Given the description of an element on the screen output the (x, y) to click on. 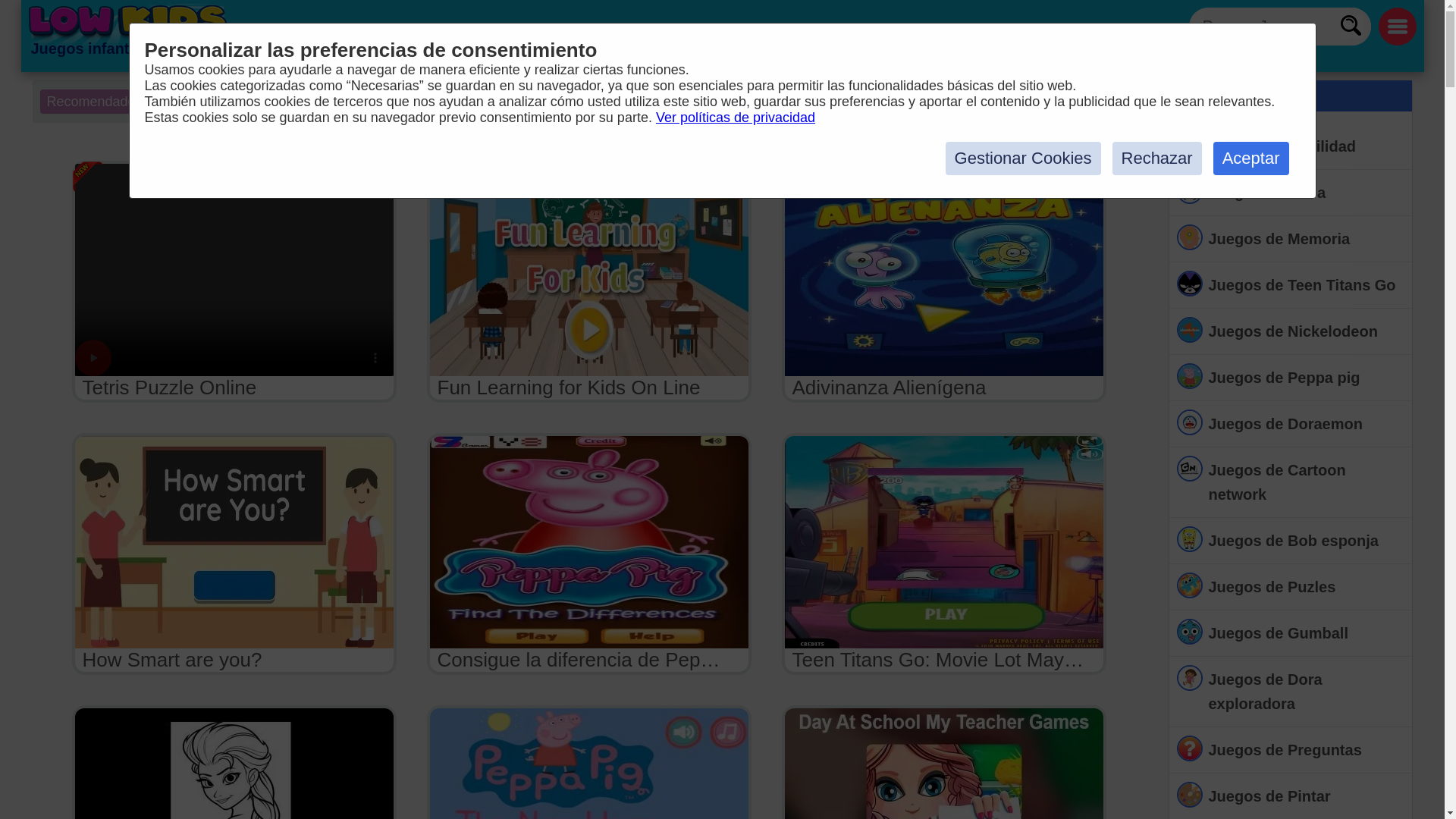
Juegos de Bob esponja (1290, 540)
Juegos infantiles de Nickelodeon gratis (1290, 331)
Juegos infantiles de Teen Titans Go gratis (1290, 285)
Juegos de Peppa pig (1290, 377)
Juegos infantiles de Mesa gratis (1290, 192)
Juegos de Habilidad (1290, 146)
Juegos de Preguntas (1290, 750)
Tetris Puzzle Online (233, 281)
Fun Learning for Kids On Line (588, 281)
Juegos infantiles de Memoria gratis (1290, 239)
Juegos de Nickelodeon (1290, 331)
Juegos infantiles de Cartoon network gratis (1290, 482)
Juegos de Dora exploradora (1290, 691)
Juegos de Gumball (1290, 633)
Juegos infantiles de Habilidad gratis (1290, 146)
